Given the description of an element on the screen output the (x, y) to click on. 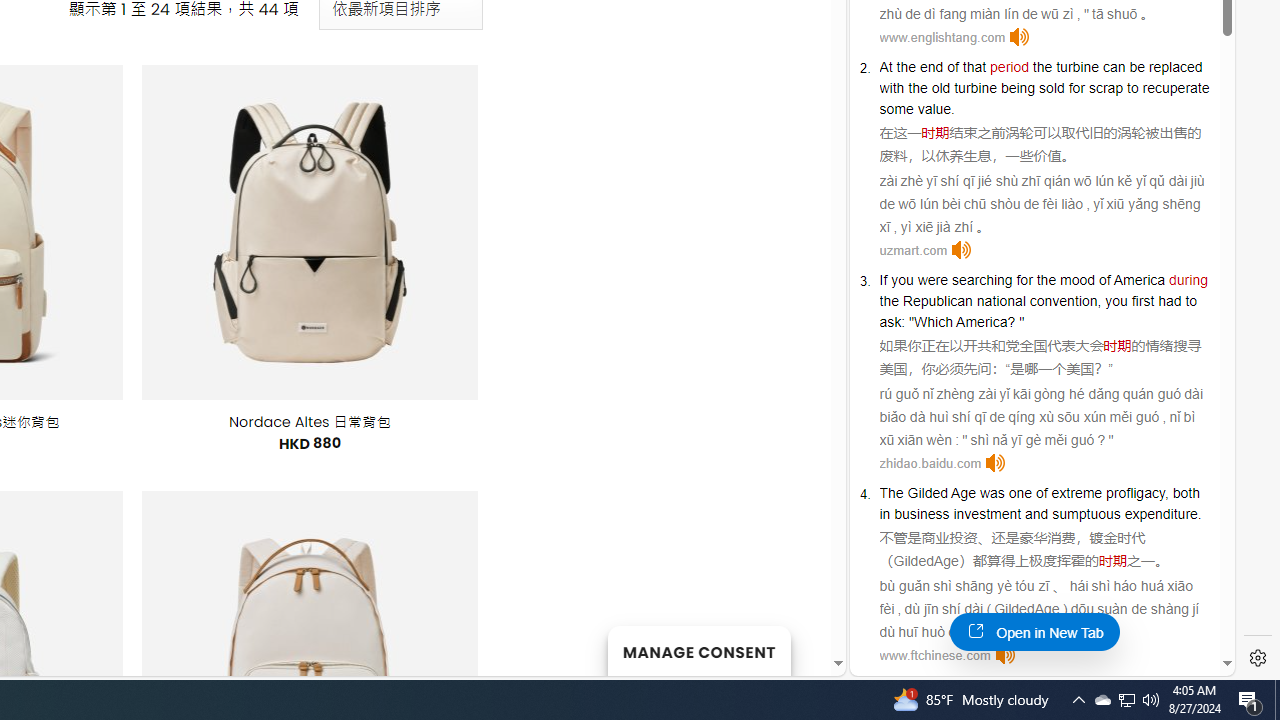
searching (981, 280)
? (1011, 321)
extreme (1076, 493)
: (903, 321)
sold (1051, 87)
MANAGE CONSENT (698, 650)
